Given the description of an element on the screen output the (x, y) to click on. 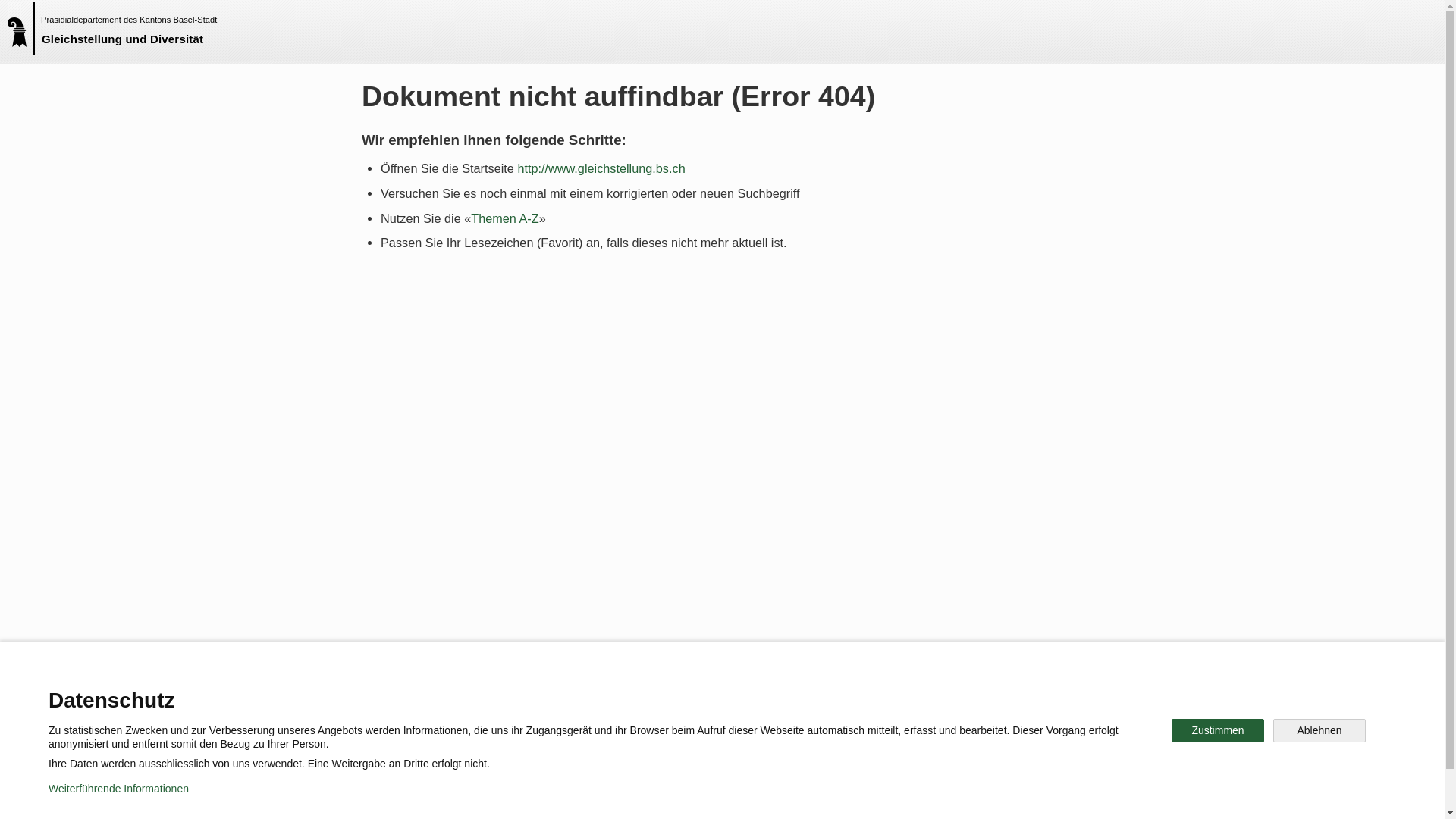
Nutzungsregelungen Element type: text (542, 796)
Ablehnen Element type: text (1319, 730)
http://www.gleichstellung.bs.ch Element type: text (600, 168)
Themen A-Z Element type: text (504, 217)
Impressum Element type: text (648, 796)
Zur mobilen Ansicht Element type: text (752, 796)
Zustimmen Element type: text (1217, 730)
